Given the description of an element on the screen output the (x, y) to click on. 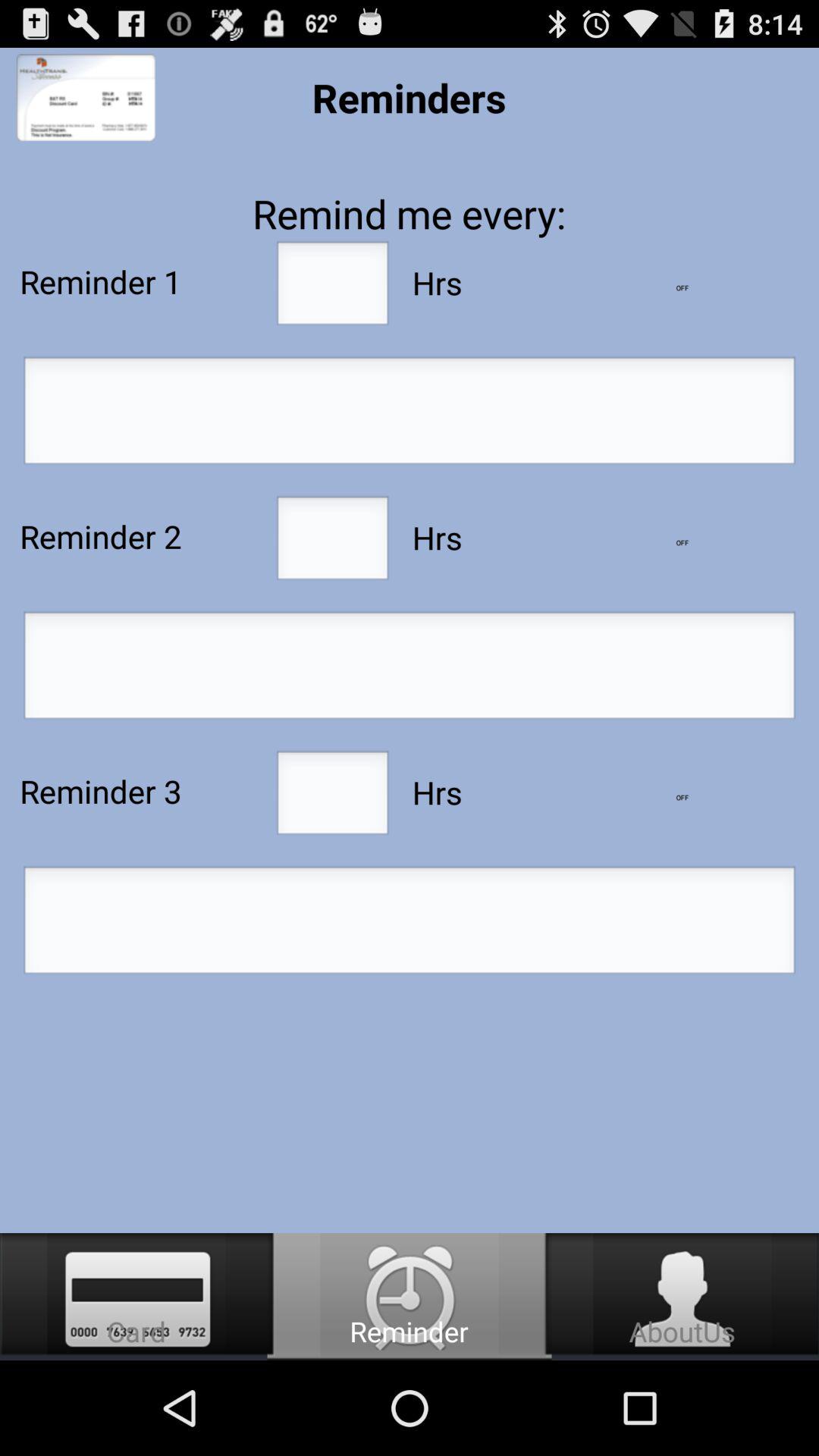
set hours reminder 1 (332, 287)
